Given the description of an element on the screen output the (x, y) to click on. 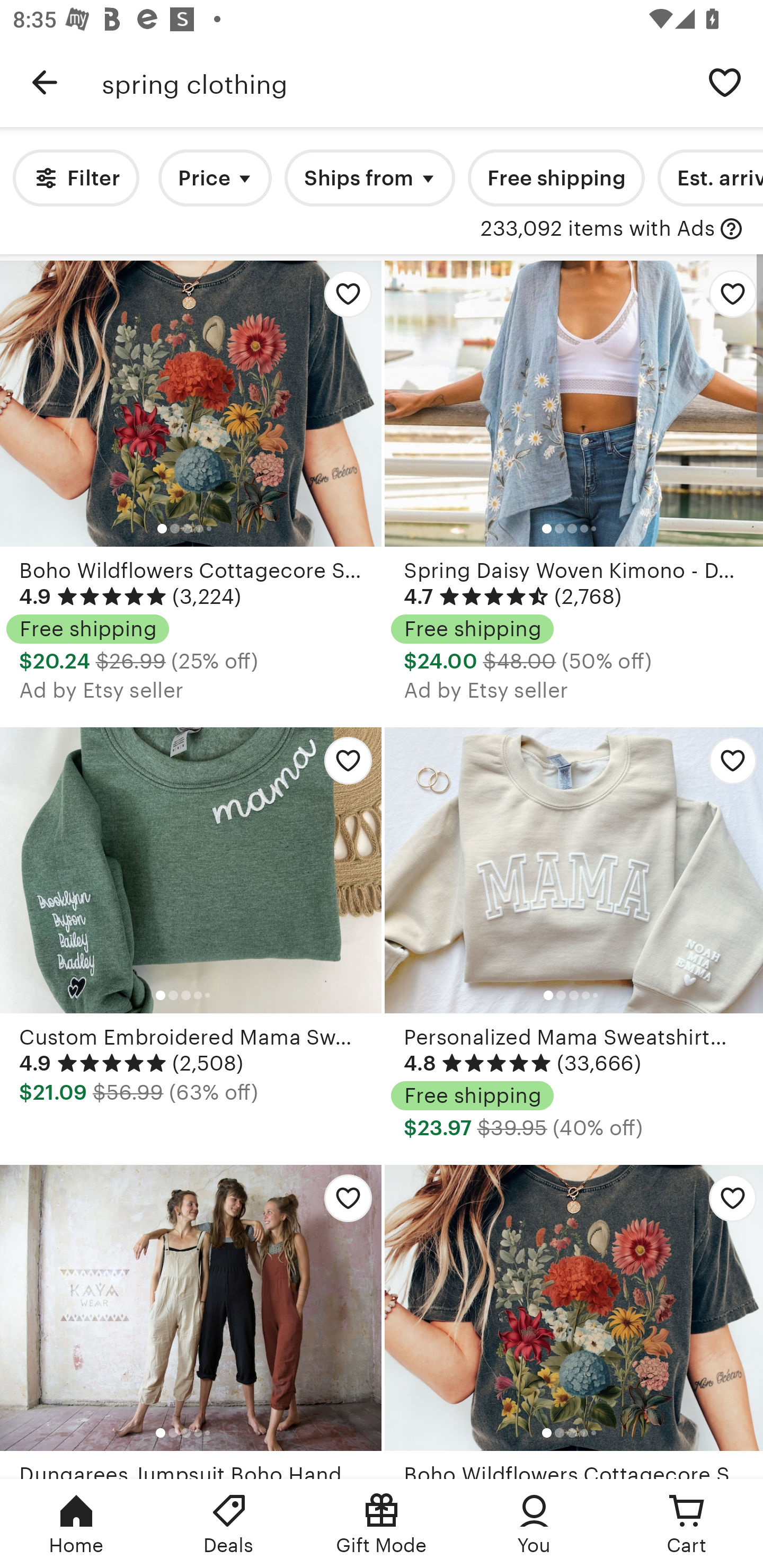
Navigate up (44, 82)
Save search (724, 81)
spring clothing (393, 82)
Filter (75, 177)
Price (214, 177)
Ships from (369, 177)
Free shipping (555, 177)
233,092 items with Ads (597, 228)
with Ads (730, 228)
Deals (228, 1523)
Gift Mode (381, 1523)
You (533, 1523)
Cart (686, 1523)
